Given the description of an element on the screen output the (x, y) to click on. 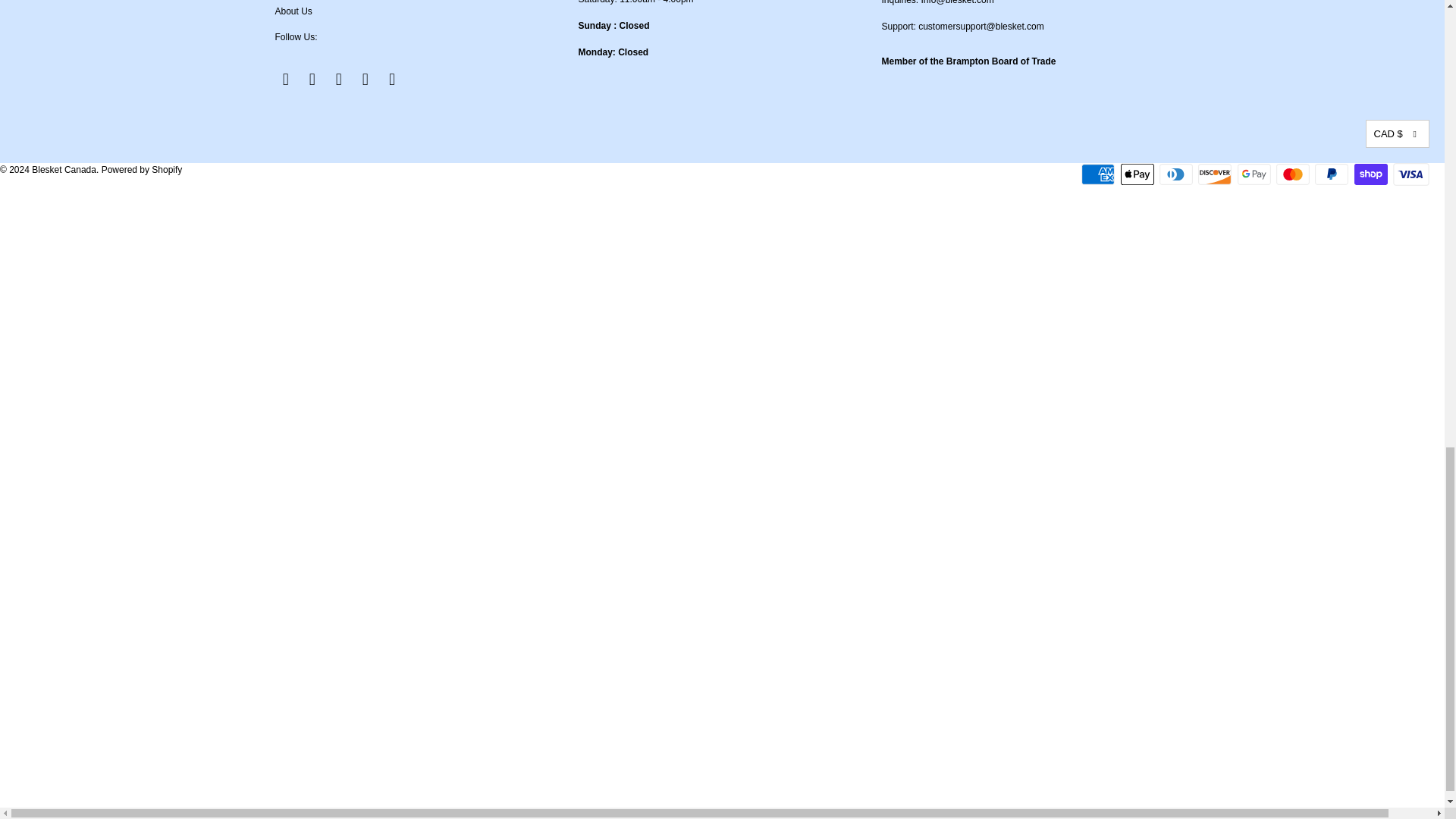
PayPal (1332, 173)
Apple Pay (1139, 173)
Blesket Canada on YouTube (312, 79)
Blesket Canada on Pinterest (339, 79)
Discover (1216, 173)
American Express (1099, 173)
Shop Pay (1372, 173)
Blesket Canada on Facebook (286, 79)
Email Blesket Canada (392, 79)
Visa (1411, 173)
Blesket Canada on Instagram (366, 79)
Diners Club (1176, 173)
Google Pay (1255, 173)
Mastercard (1294, 173)
